Given the description of an element on the screen output the (x, y) to click on. 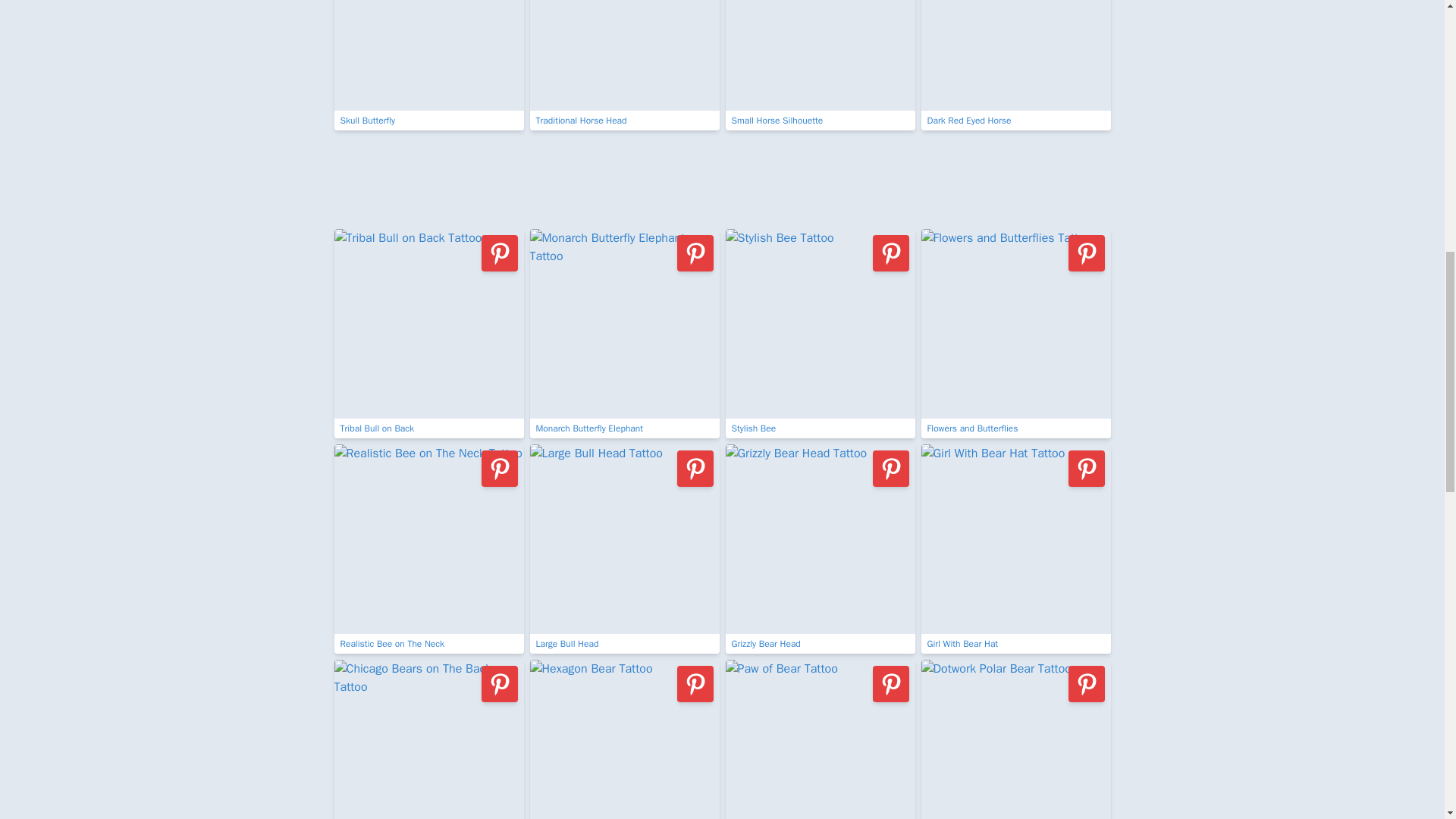
Small Horse Silhouette (819, 65)
Realistic Bee on The Neck (427, 548)
Stylish Bee (819, 333)
Grizzly Bear Head (819, 548)
Skull Butterfly (427, 65)
Dark Red Eyed Horse (1014, 65)
Tribal Bull on Back (427, 333)
Flowers and Butterflies (1014, 333)
Chicago Bears on The Back (427, 739)
Traditional Horse Head (624, 65)
